Given the description of an element on the screen output the (x, y) to click on. 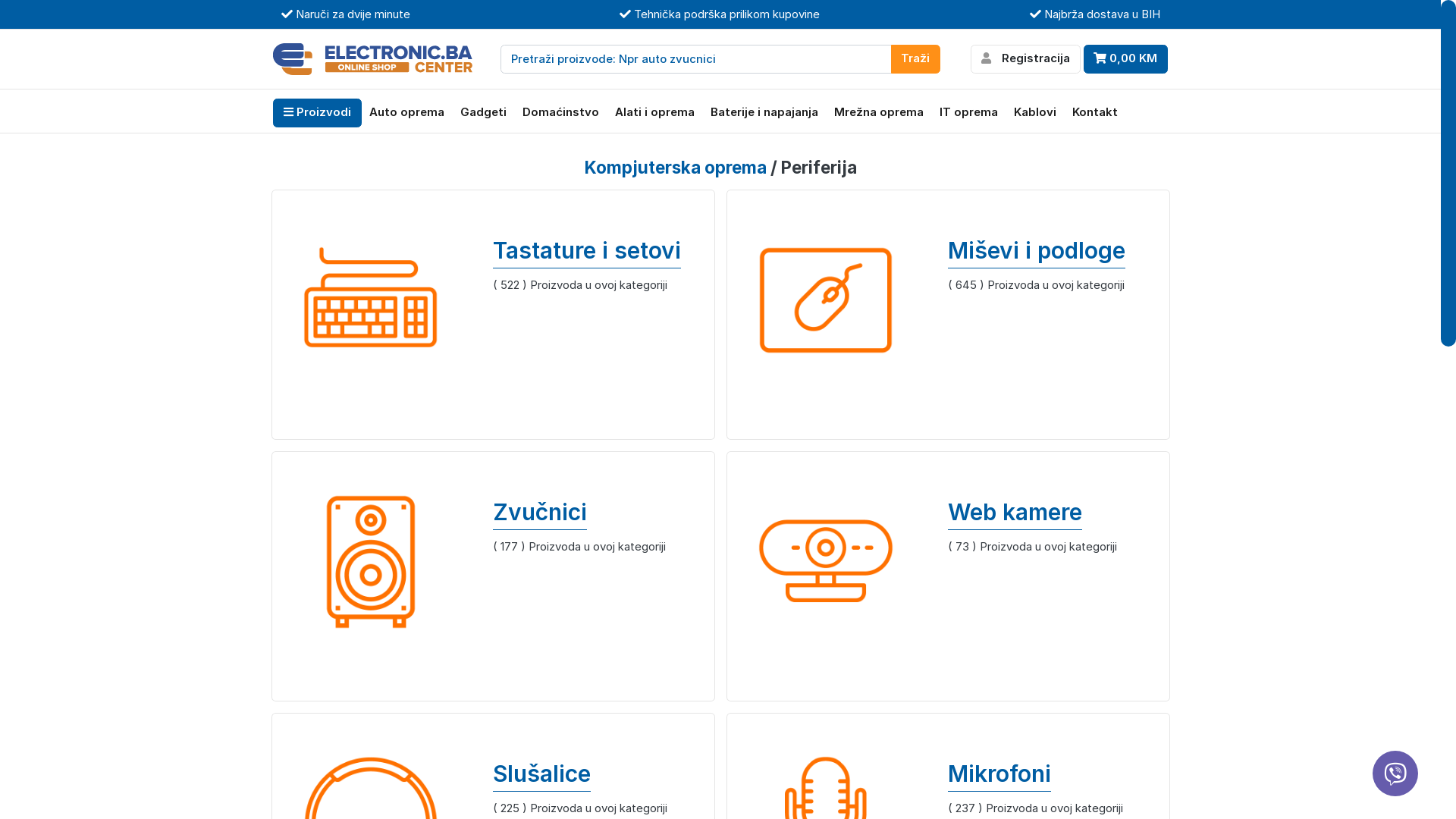
Tastature i setovi Element type: text (597, 253)
Web kamere Element type: text (1052, 515)
Baterije i napajanja Element type: text (763, 112)
Alati i oprema Element type: text (654, 112)
Gadgeti Element type: text (482, 112)
IT oprema Element type: text (968, 112)
Mikrofoni Element type: text (1052, 776)
Kontakt Element type: text (1095, 112)
0,00 KM Element type: text (1124, 57)
Kablovi Element type: text (1034, 112)
Proizvodi Element type: text (317, 112)
Kompjuterska oprema Element type: text (674, 166)
Auto oprema Element type: text (405, 112)
Registracija Element type: text (1025, 57)
